Given the description of an element on the screen output the (x, y) to click on. 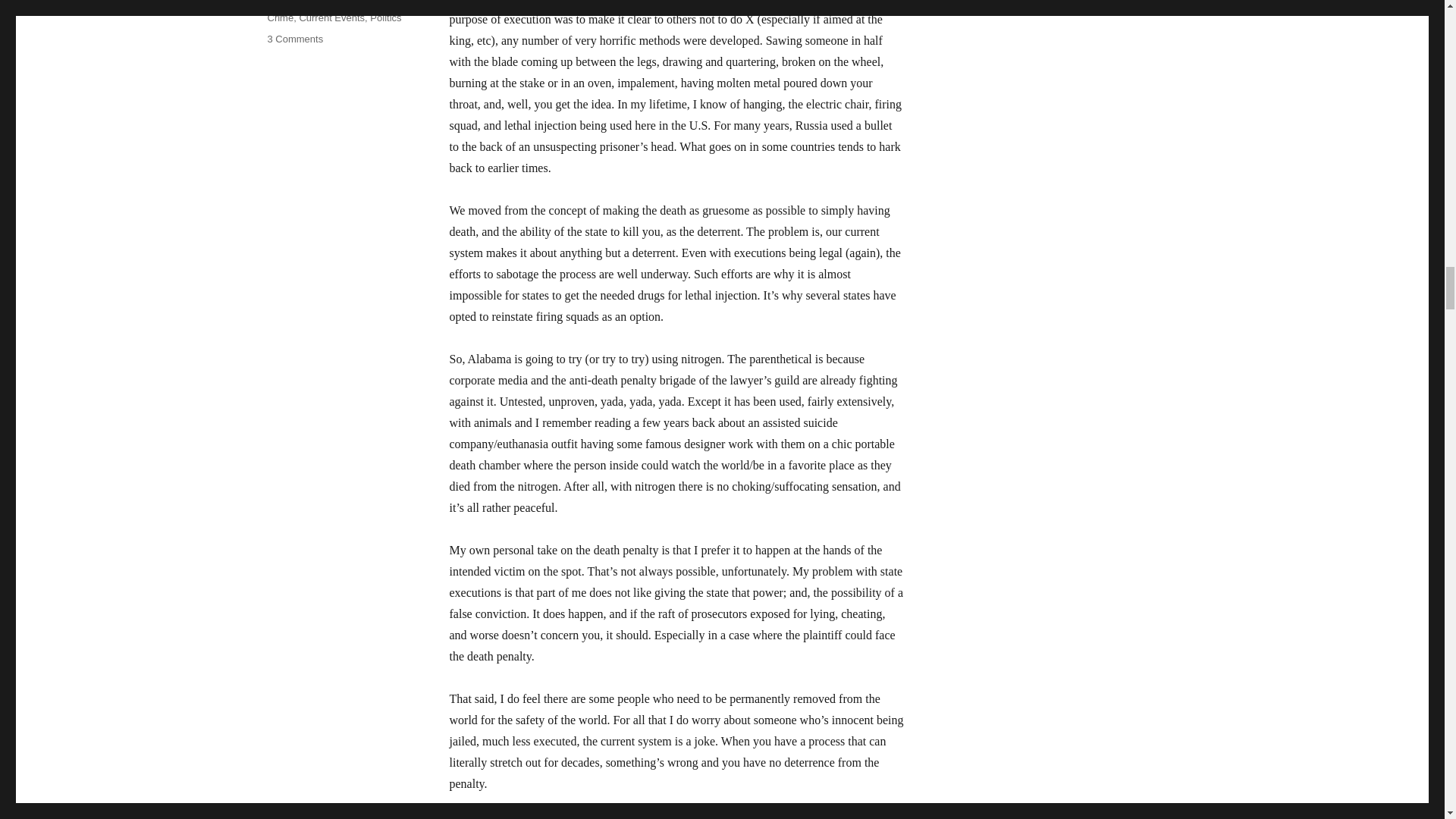
August 28, 2023 (302, 1)
Politics (385, 17)
Current Events (294, 39)
Crime (331, 17)
